Given the description of an element on the screen output the (x, y) to click on. 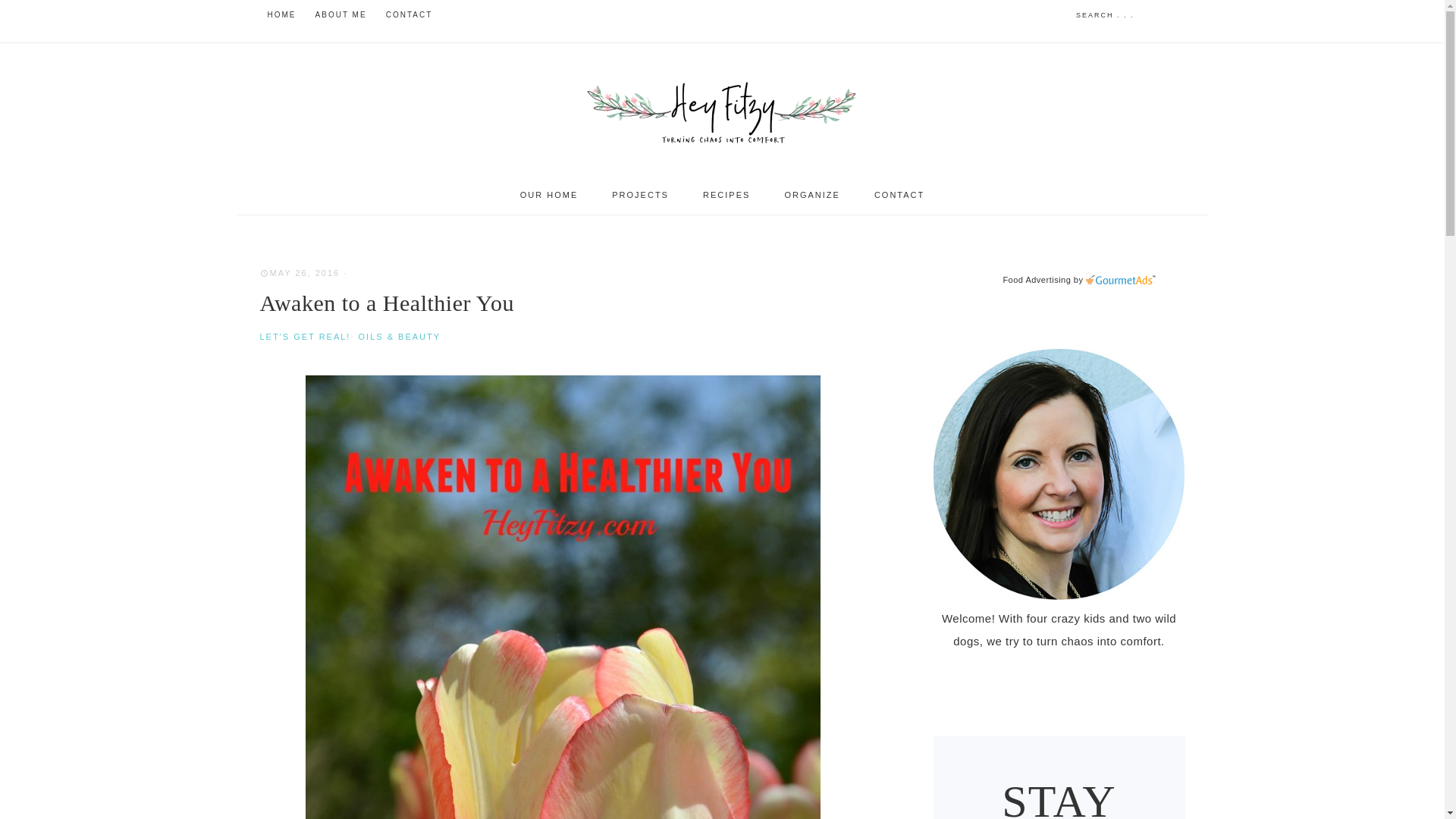
OUR HOME (549, 195)
CONTACT (899, 195)
Food Advertising (1036, 279)
Food Advertising (1036, 279)
Home Tour (549, 195)
ORGANIZE (811, 195)
HEY FITZY (722, 109)
CONTACT (409, 15)
HOME (280, 15)
ABOUT ME (340, 15)
